Given the description of an element on the screen output the (x, y) to click on. 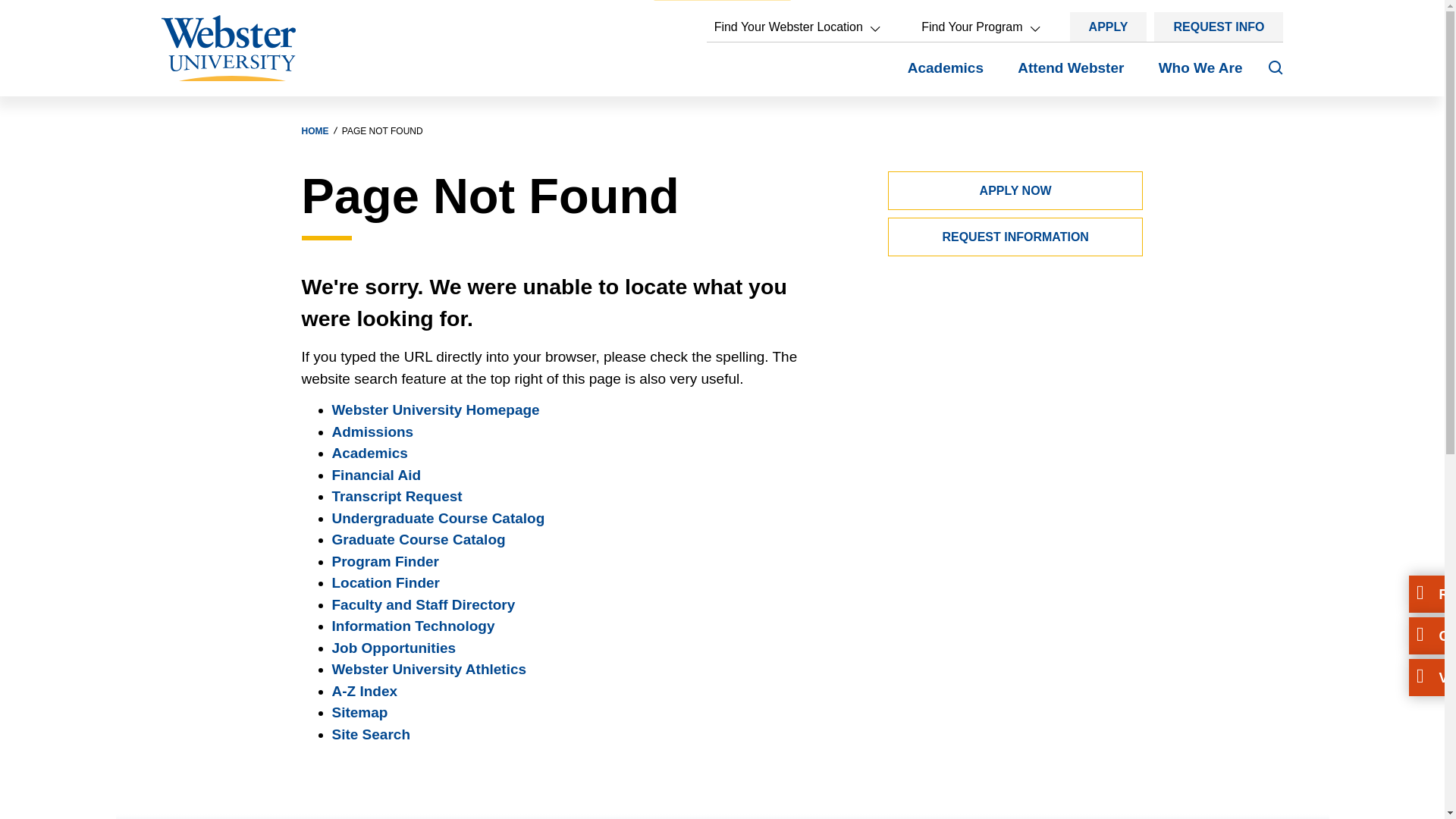
Attend Webster (1070, 76)
Find Your Webster Location (796, 26)
APPLY (1108, 26)
Academics (945, 76)
Find Your Program (980, 26)
REQUEST INFO (1218, 26)
